Given the description of an element on the screen output the (x, y) to click on. 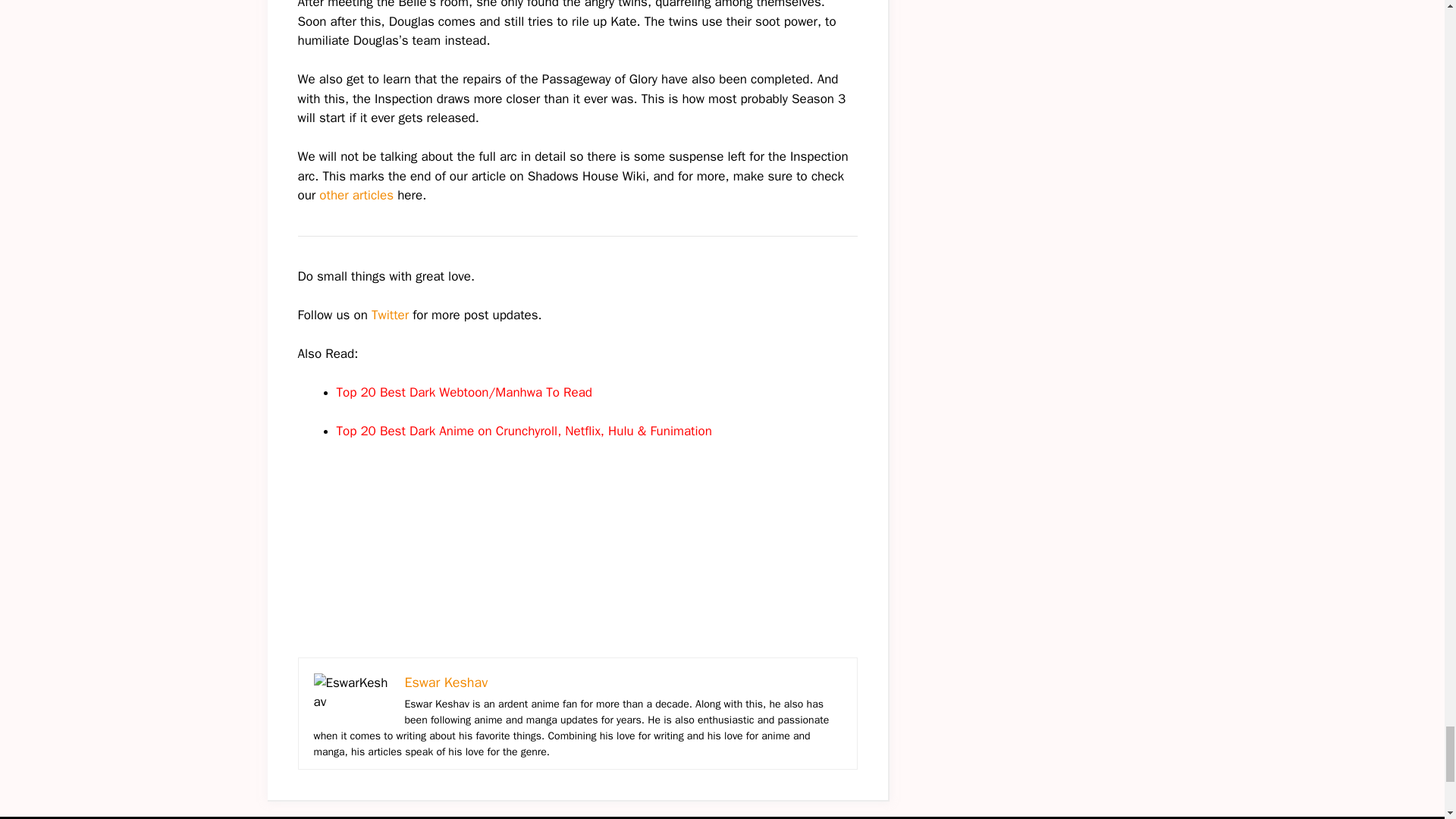
Twitter (390, 314)
other articles (355, 195)
Read (577, 392)
Eswar Keshav (445, 682)
